Given the description of an element on the screen output the (x, y) to click on. 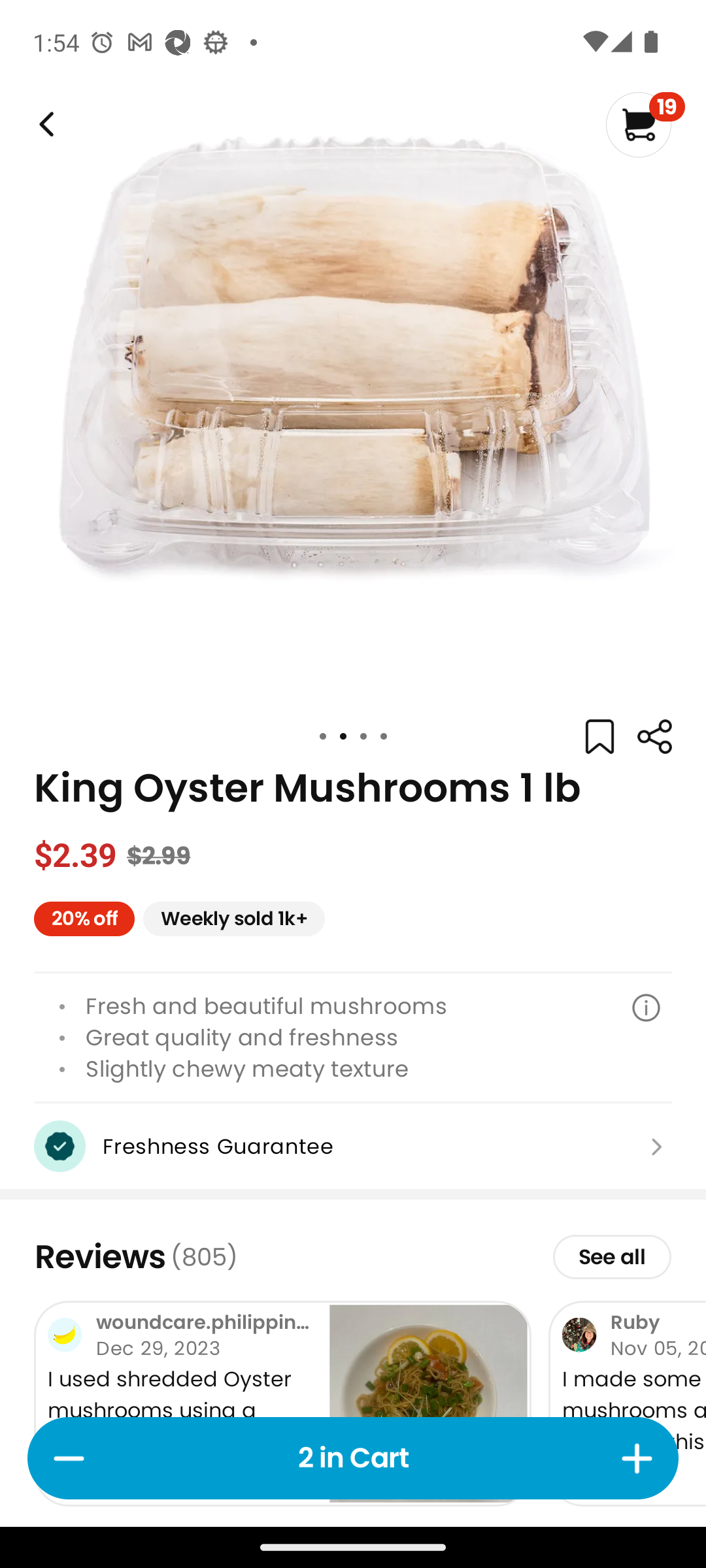
19 (644, 124)
Weee! (45, 124)
Weee! (653, 736)
Freshness Guarantee (352, 1145)
Reviews (805) See all (353, 1256)
2 in Cart (352, 1458)
